Given the description of an element on the screen output the (x, y) to click on. 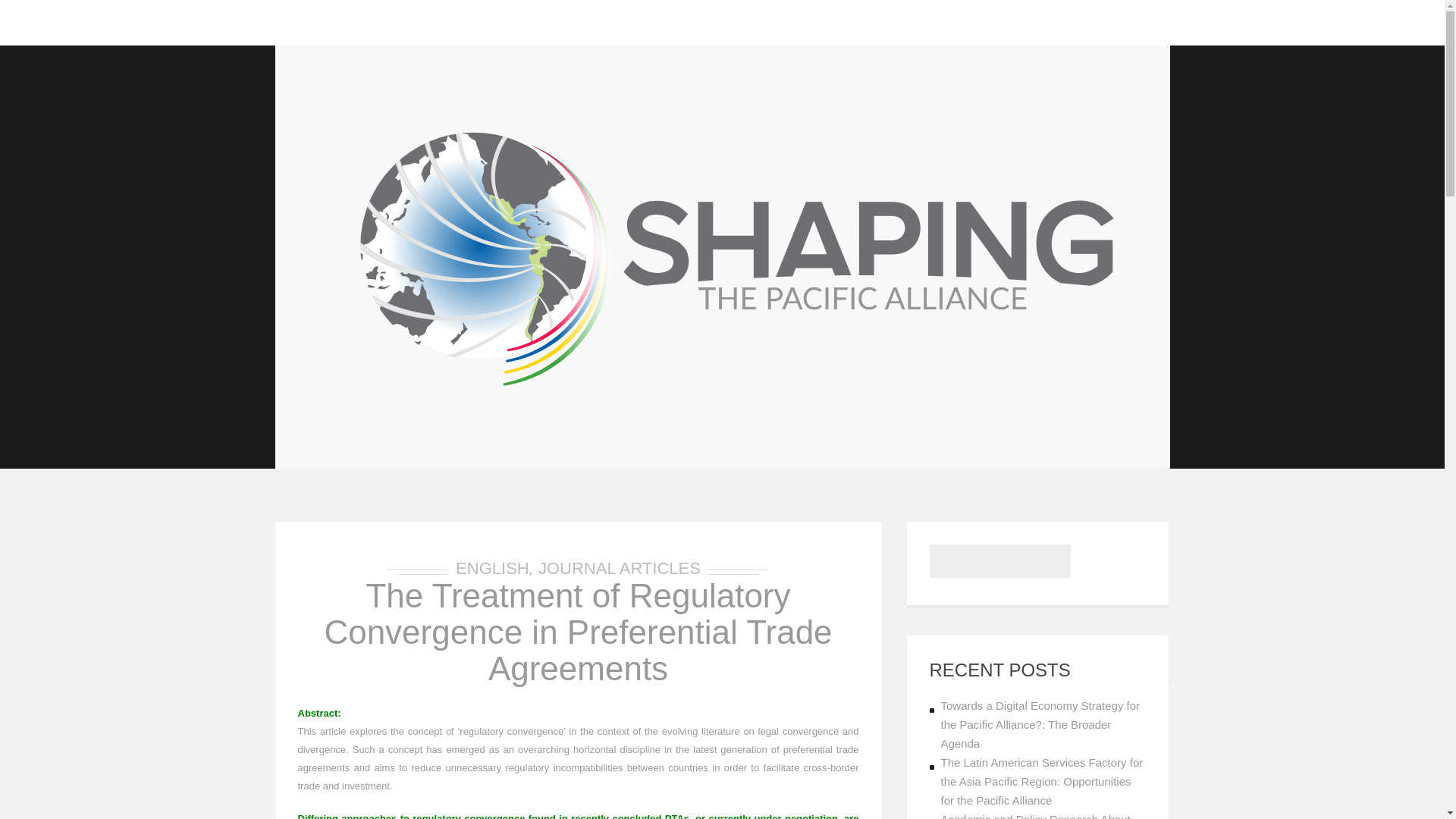
linkedin (1155, 22)
Twitter (1128, 22)
